Given the description of an element on the screen output the (x, y) to click on. 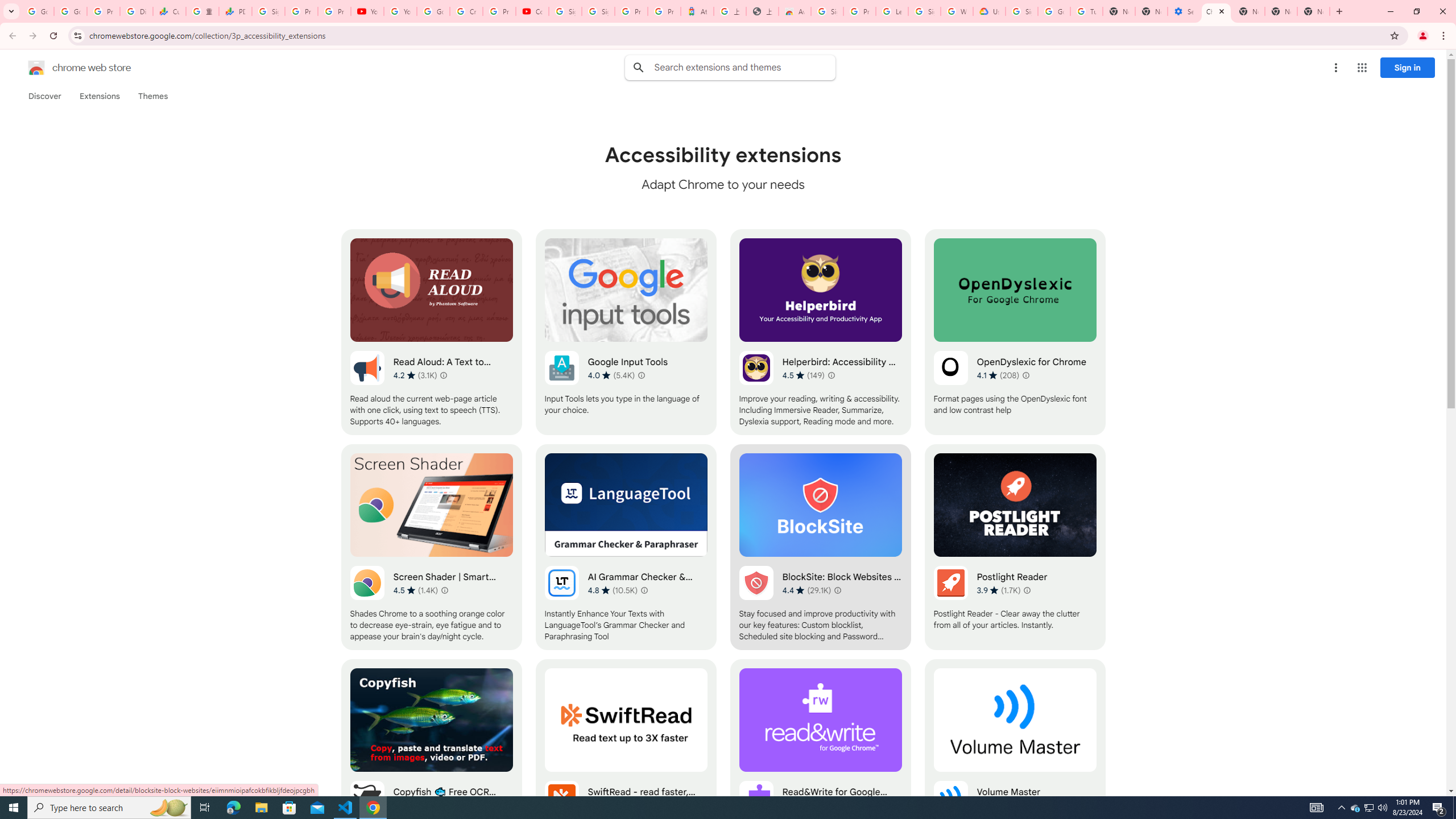
Themes (152, 95)
